Given the description of an element on the screen output the (x, y) to click on. 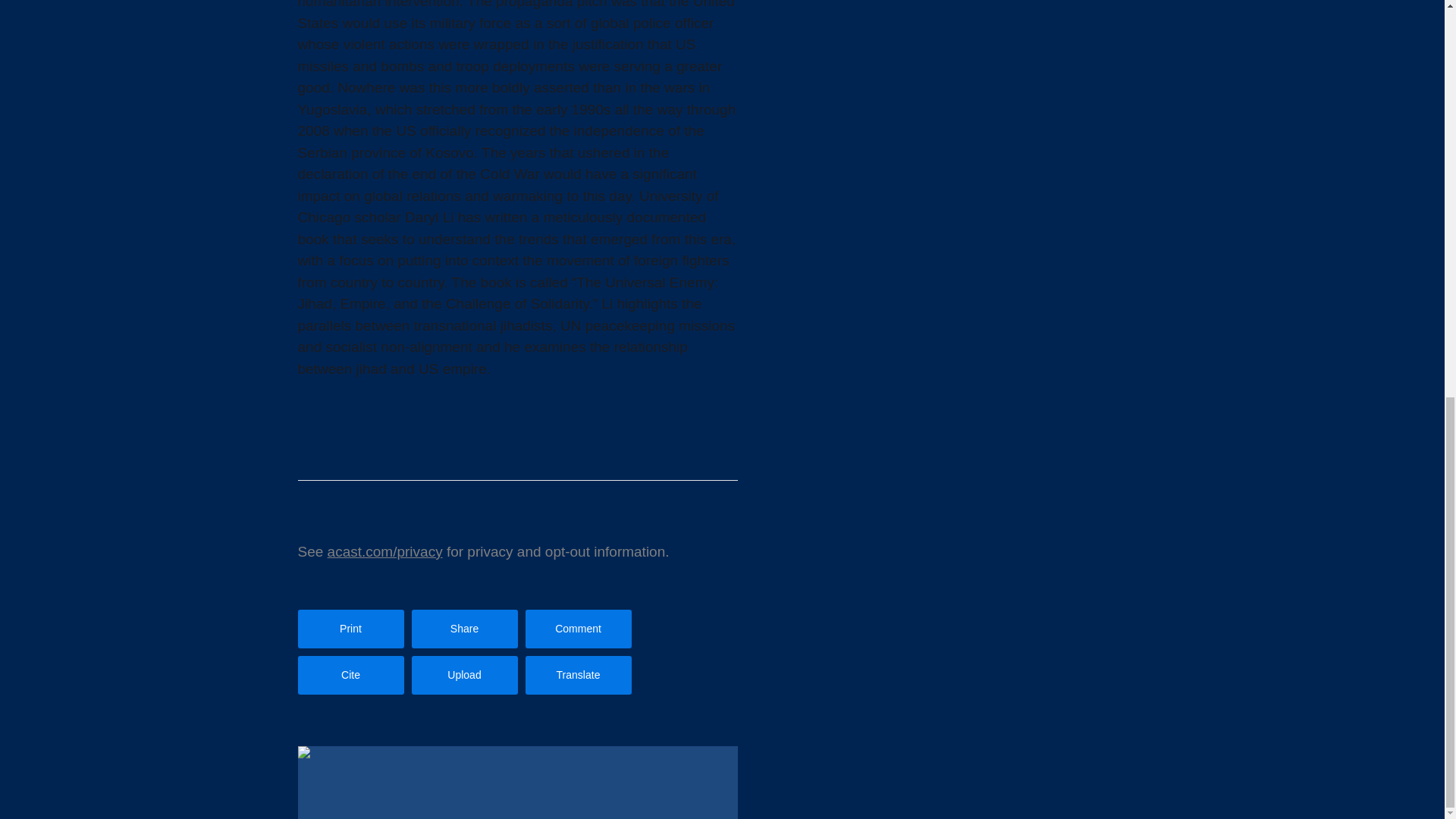
Cite (350, 675)
Print (350, 628)
Upload (463, 675)
Comment (577, 628)
Translate (577, 675)
Share (463, 628)
